Given the description of an element on the screen output the (x, y) to click on. 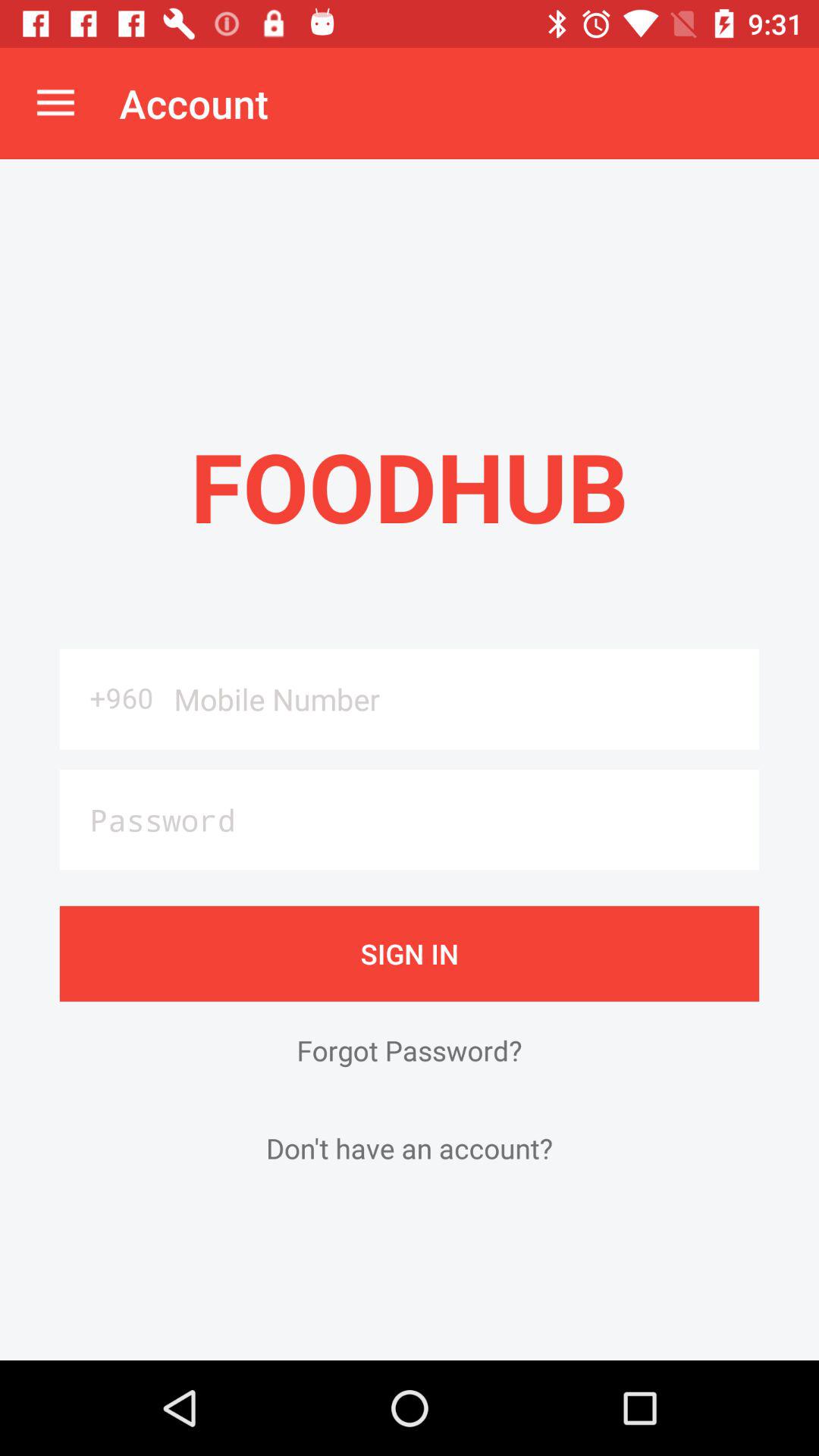
select the icon below forgot password? item (409, 1148)
